Given the description of an element on the screen output the (x, y) to click on. 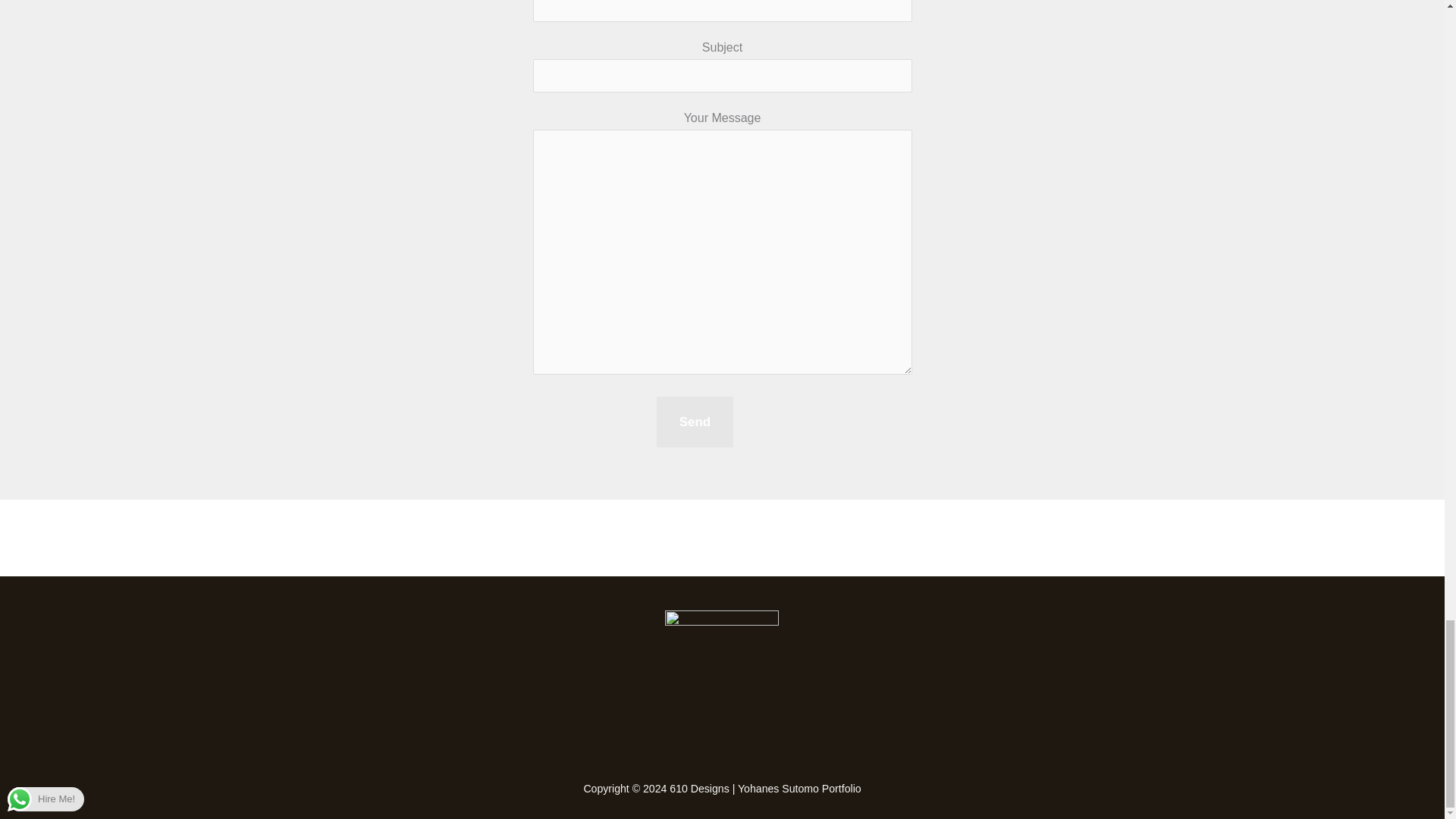
Send (694, 421)
Send (694, 421)
